Given the description of an element on the screen output the (x, y) to click on. 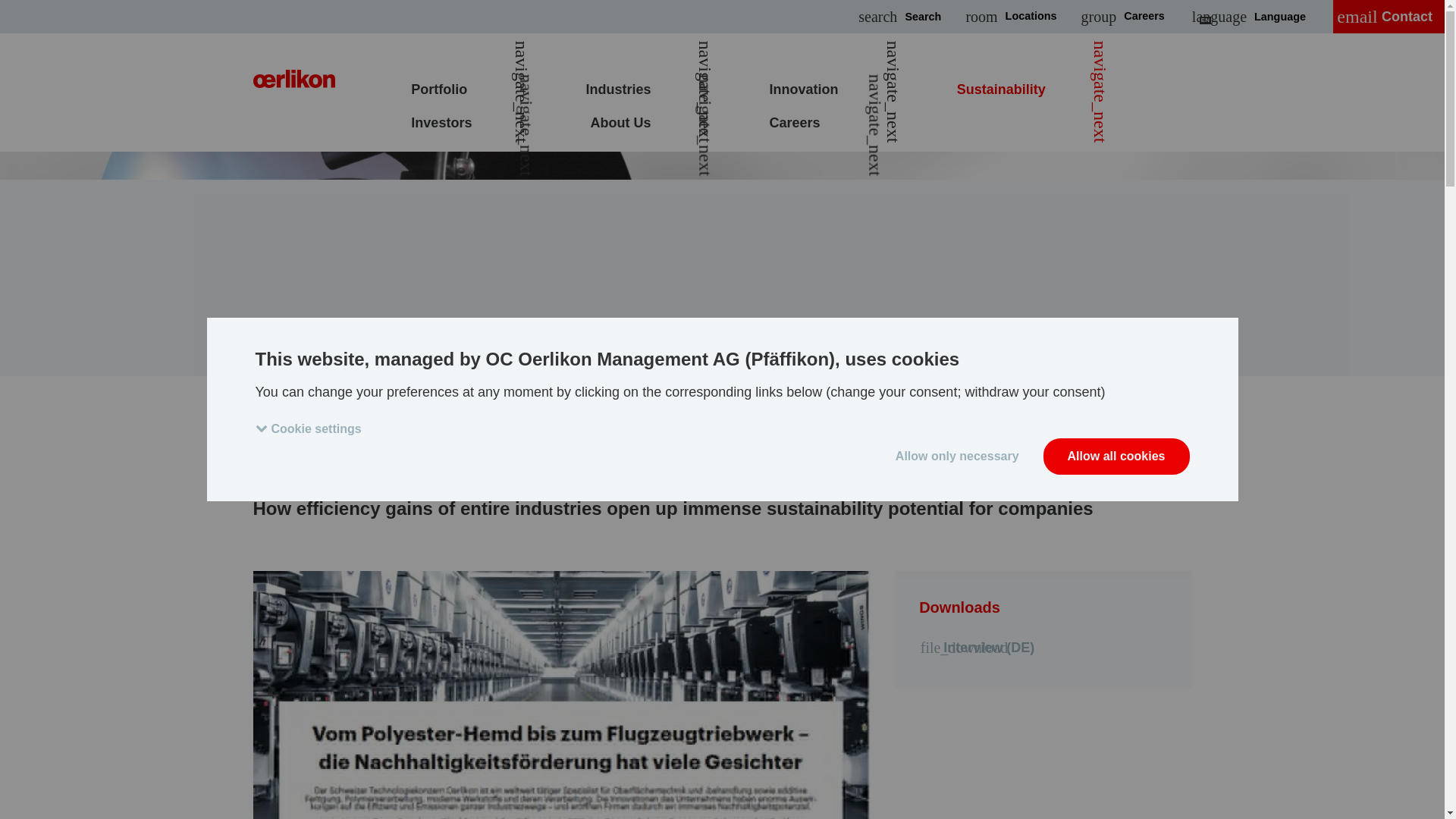
Allow all cookies (1116, 456)
Cookie settings (313, 428)
Allow only necessary (956, 456)
